Given the description of an element on the screen output the (x, y) to click on. 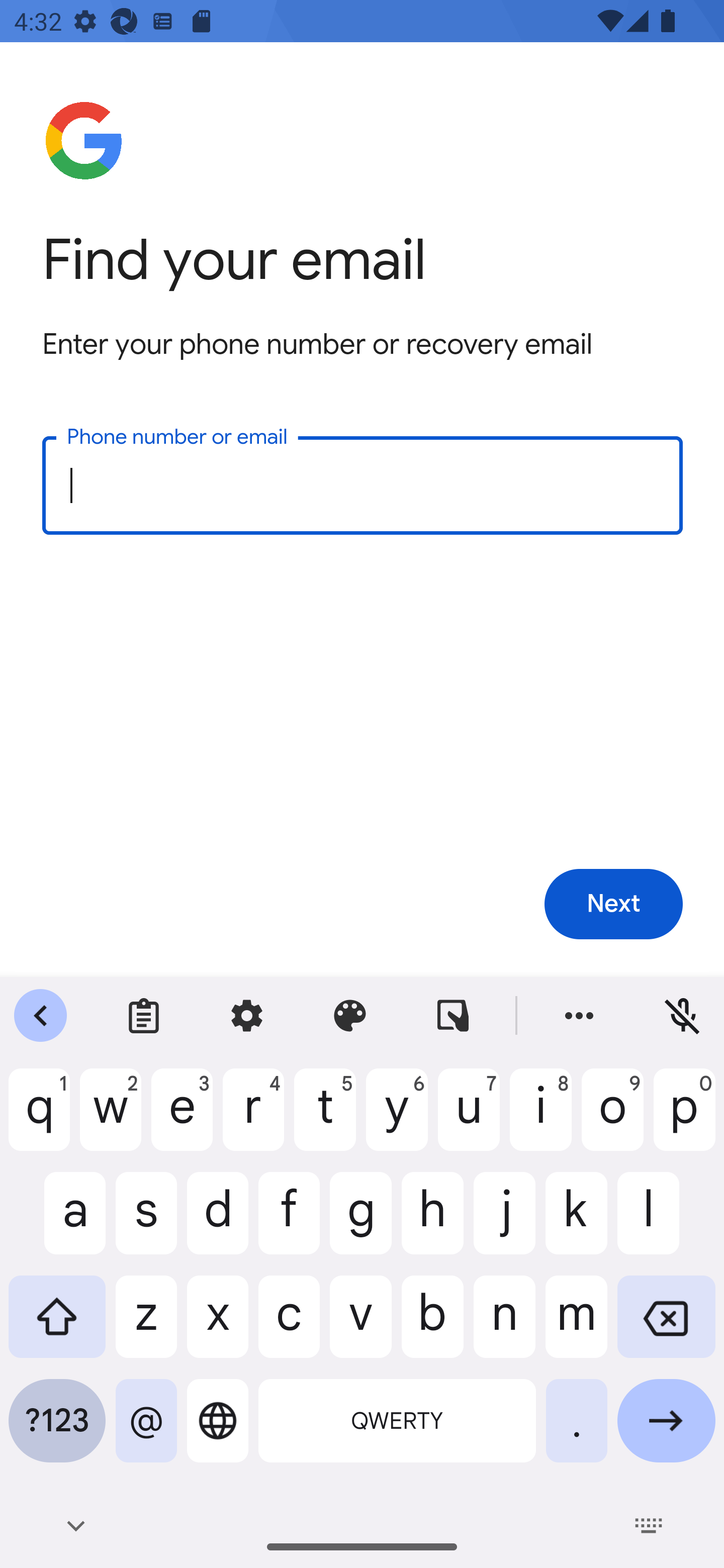
Next (613, 904)
